Given the description of an element on the screen output the (x, y) to click on. 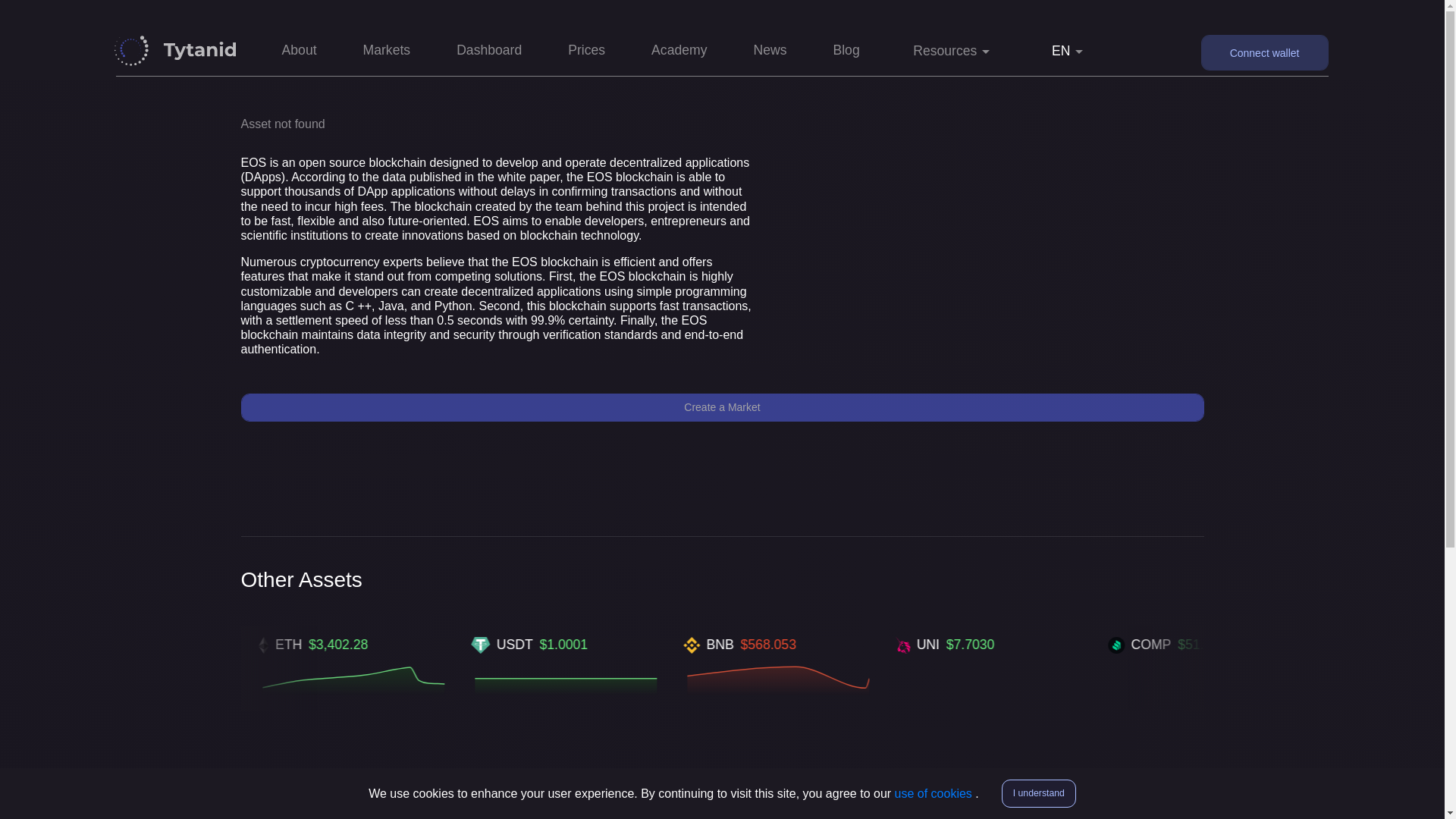
News (769, 52)
Markets (386, 52)
About (299, 52)
Prices (586, 52)
use of cookies (935, 793)
Resources (951, 50)
Academy (679, 52)
Dashboard (488, 52)
Create a Market (722, 407)
Connect wallet (1264, 52)
Blog (845, 52)
EN (1067, 50)
I understand (1038, 793)
